Given the description of an element on the screen output the (x, y) to click on. 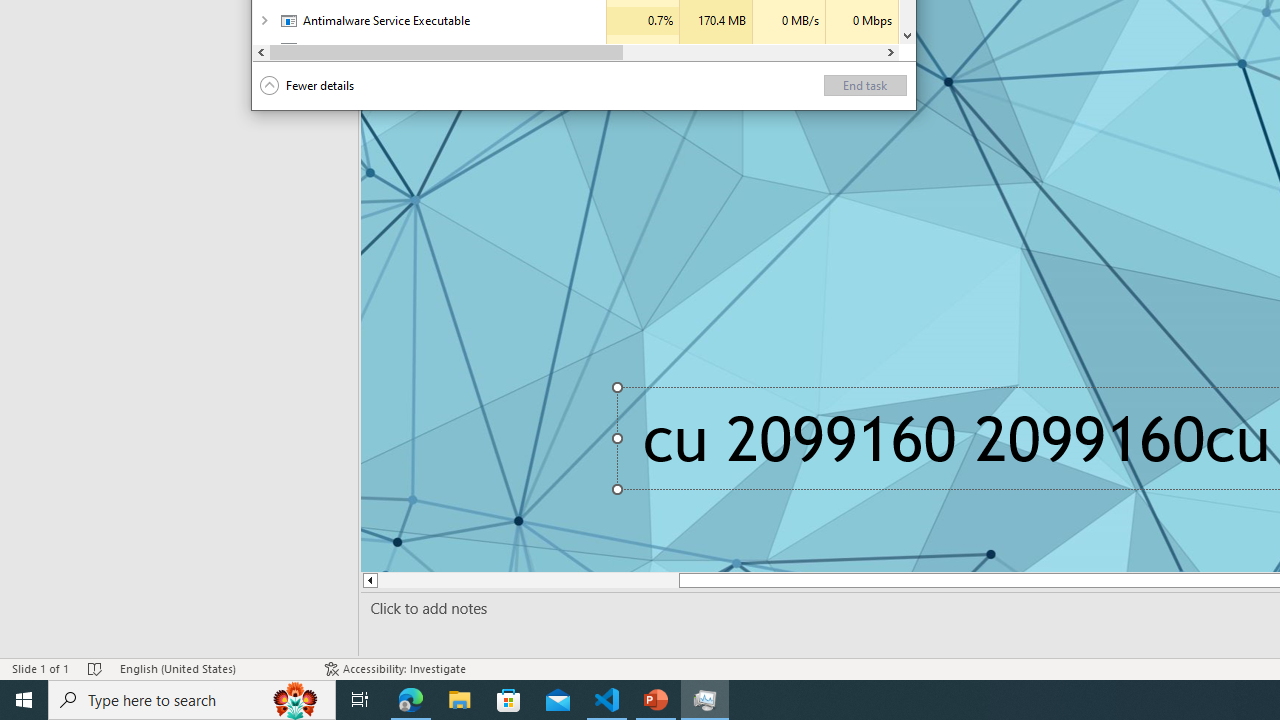
Memory (715, 49)
Horizontal (575, 52)
AutomationID: TmColStatusText (490, 49)
Network (861, 49)
End task (865, 85)
CPU (642, 49)
Column left (261, 52)
Page right (752, 52)
Fewer details (307, 86)
Disk (788, 49)
Column right (889, 52)
